Given the description of an element on the screen output the (x, y) to click on. 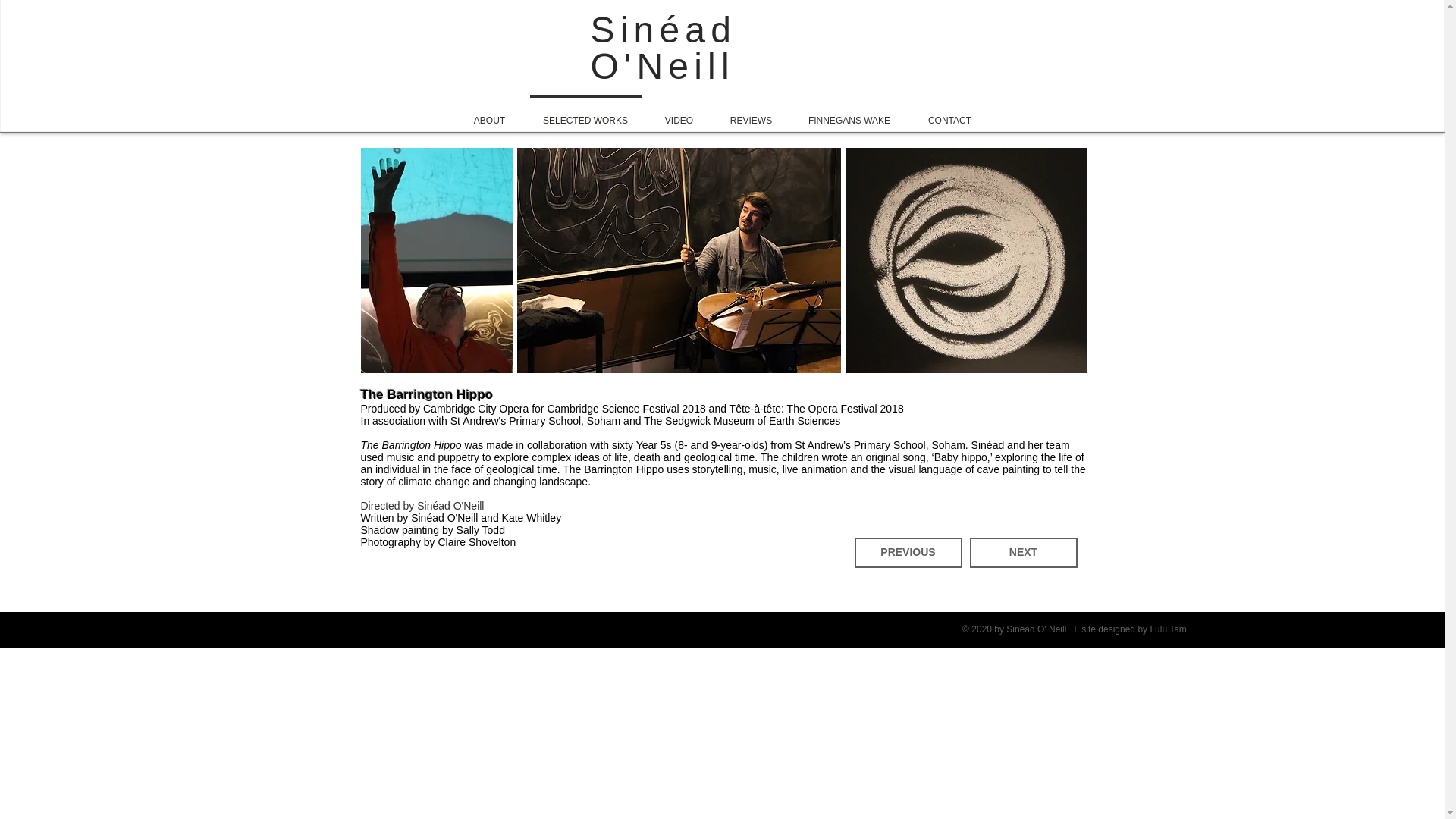
SELECTED WORKS (584, 113)
CONTACT (949, 113)
NEXT (1023, 552)
VIDEO (679, 113)
REVIEWS (751, 113)
FINNEGANS WAKE (849, 113)
PREVIOUS (906, 552)
ABOUT (488, 113)
